Given the description of an element on the screen output the (x, y) to click on. 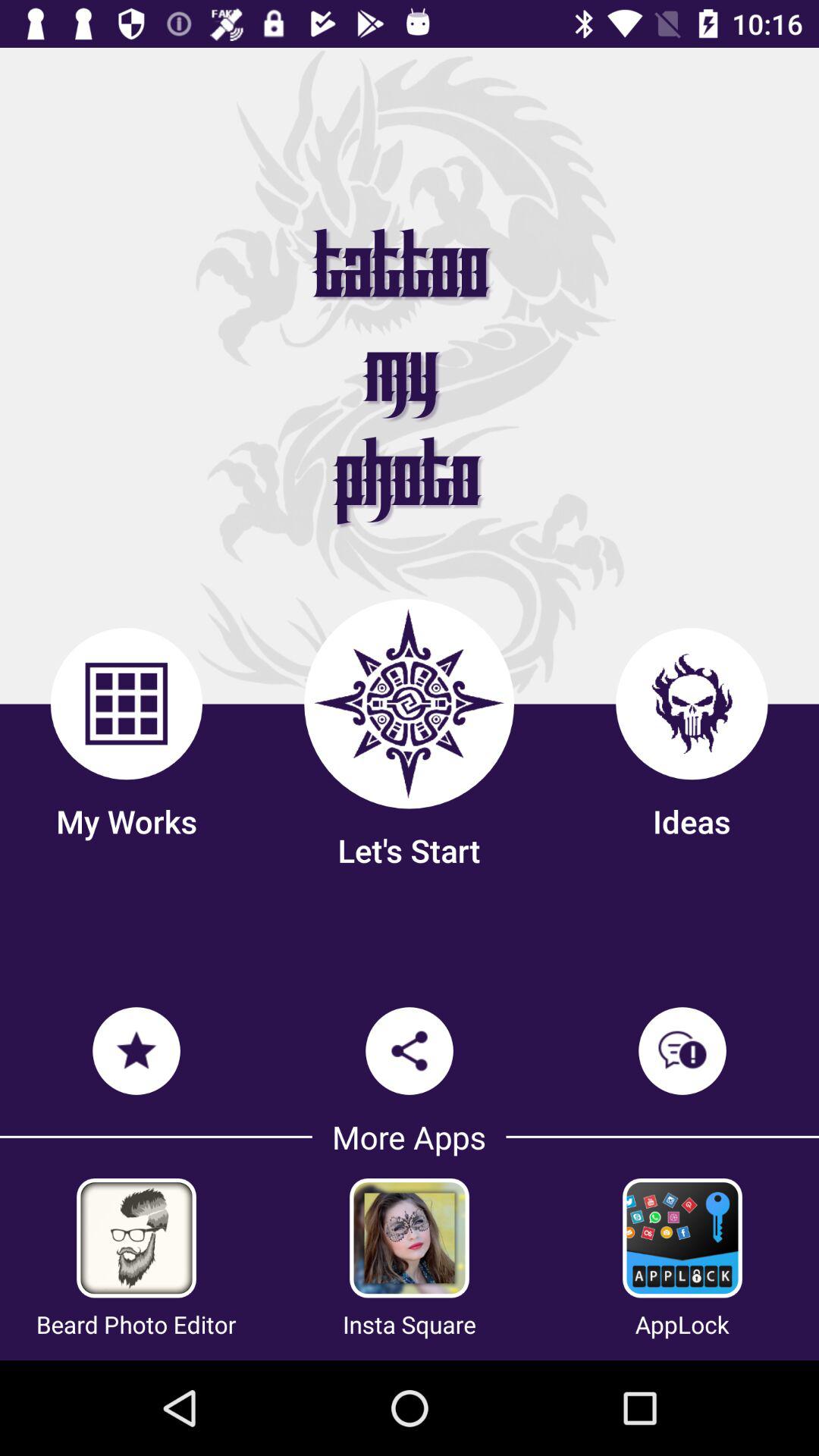
launch the beard photo editor icon (136, 1324)
